Given the description of an element on the screen output the (x, y) to click on. 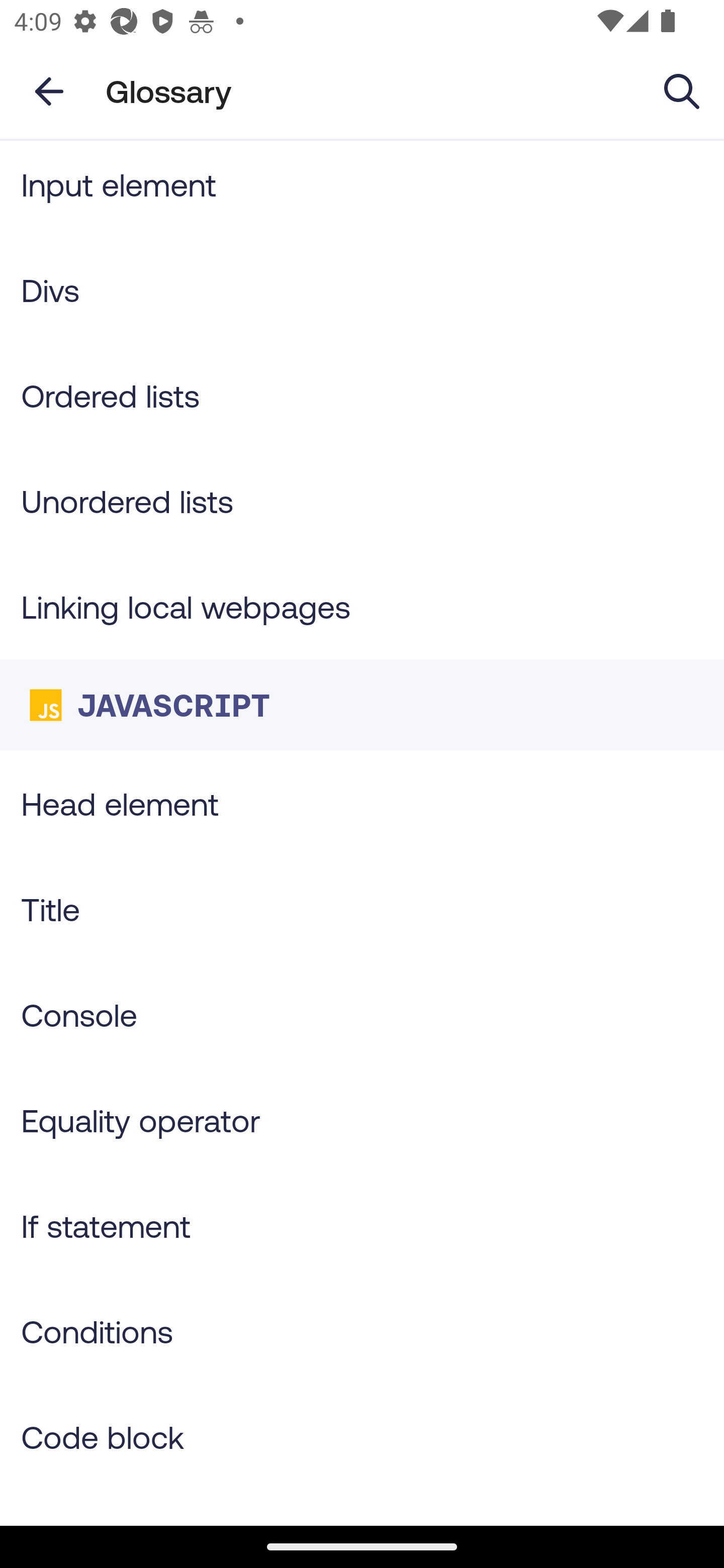
Navigate up (49, 91)
Search Glossary (681, 90)
Input element (362, 188)
Divs (362, 289)
Ordered lists (362, 395)
Unordered lists (362, 500)
Linking local webpages (362, 606)
JAVASCRIPT (362, 705)
Head element (362, 803)
Title (362, 908)
Console (362, 1014)
Equality operator (362, 1119)
If statement (362, 1224)
Conditions (362, 1330)
Code block  (362, 1436)
